Given the description of an element on the screen output the (x, y) to click on. 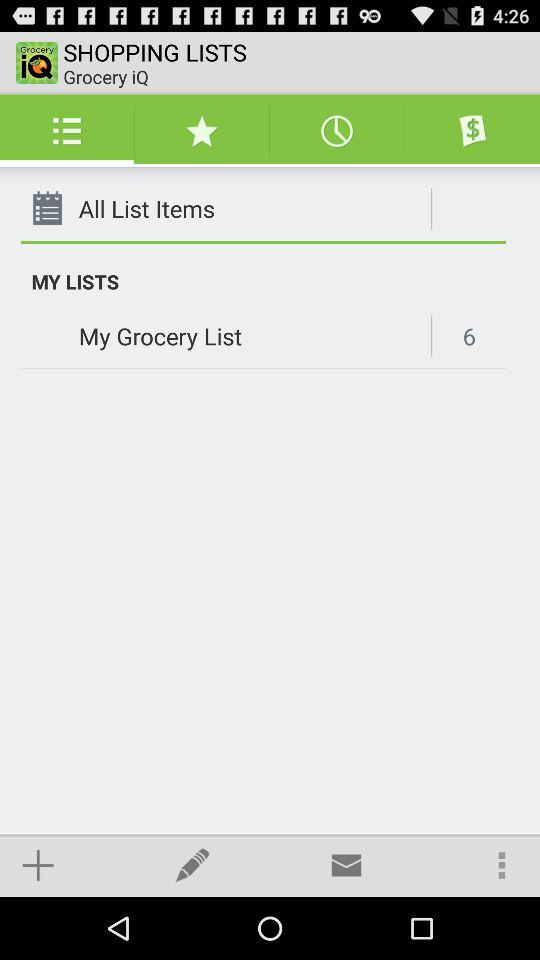
press the item below my grocery list (346, 864)
